Given the description of an element on the screen output the (x, y) to click on. 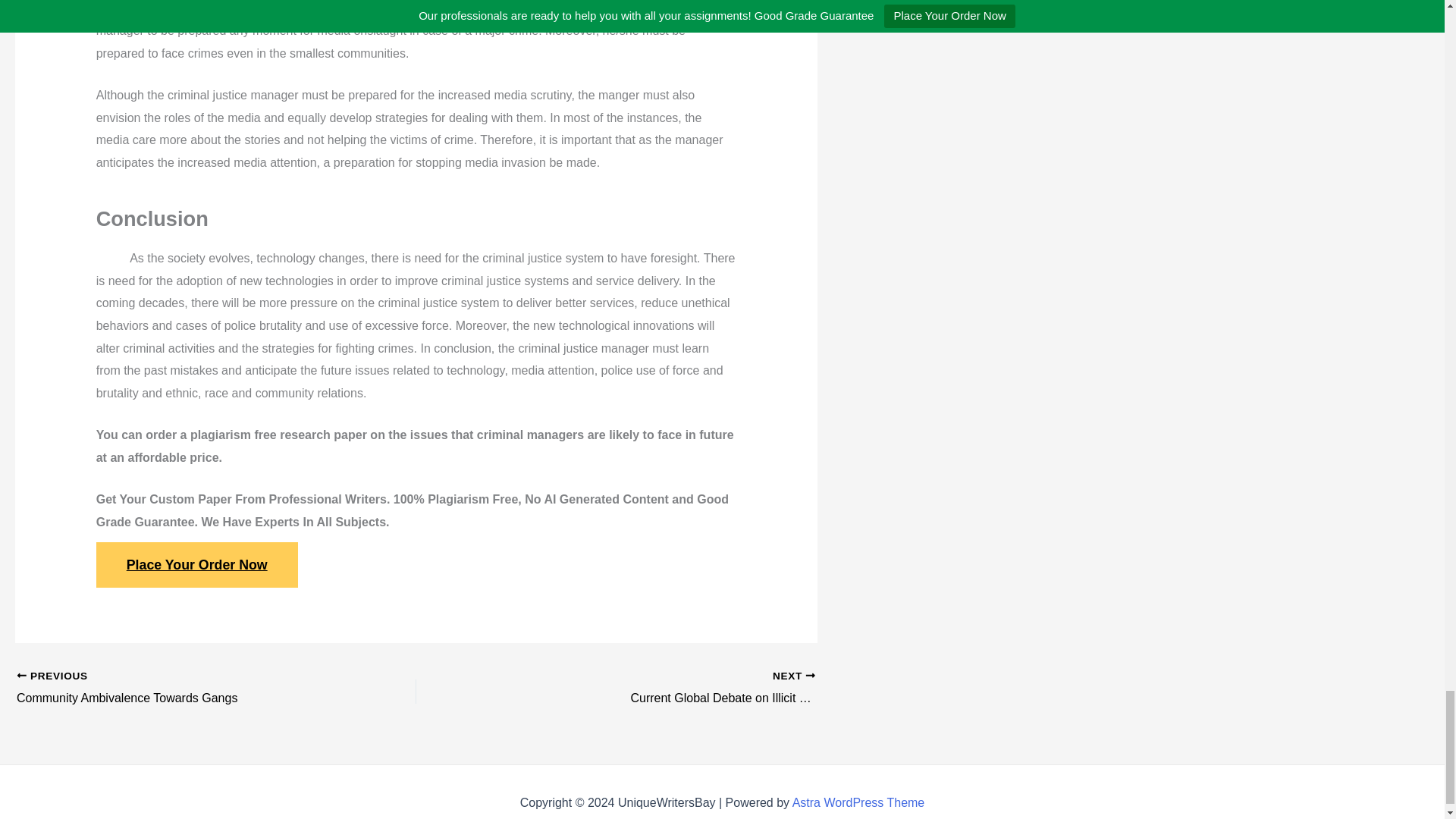
Place Your Order Now (176, 688)
Community Ambivalence Towards Gangs (197, 565)
